Given the description of an element on the screen output the (x, y) to click on. 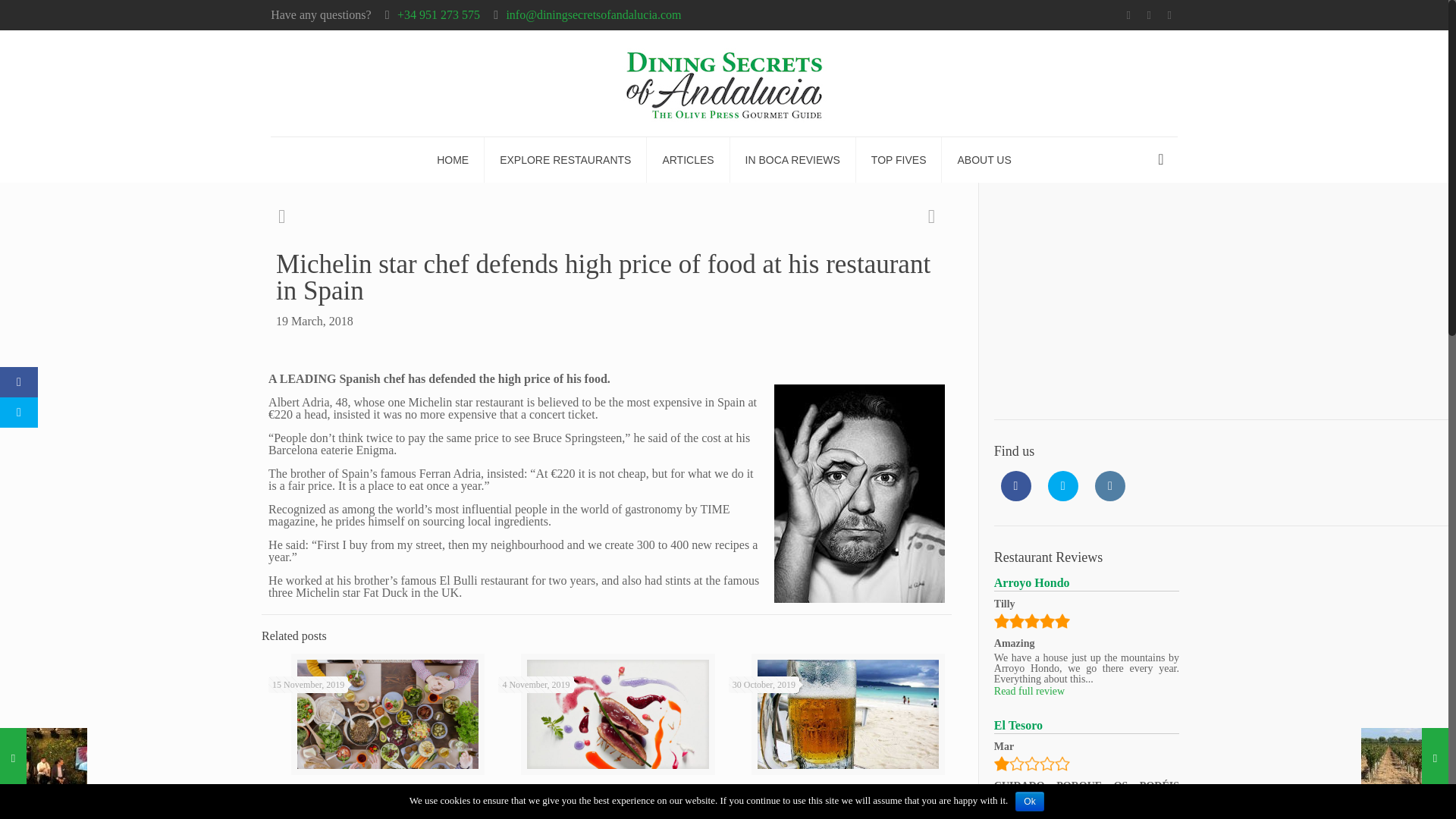
ABOUT US (984, 159)
Dining Secrets of Andalucia (724, 83)
HOME (453, 159)
EXPLORE RESTAURANTS (565, 159)
Advertisement (1107, 299)
Facebook (1129, 15)
Instagram (1169, 15)
ARTICLES (687, 159)
TOP FIVES (899, 159)
IN BOCA REVIEWS (793, 159)
